Given the description of an element on the screen output the (x, y) to click on. 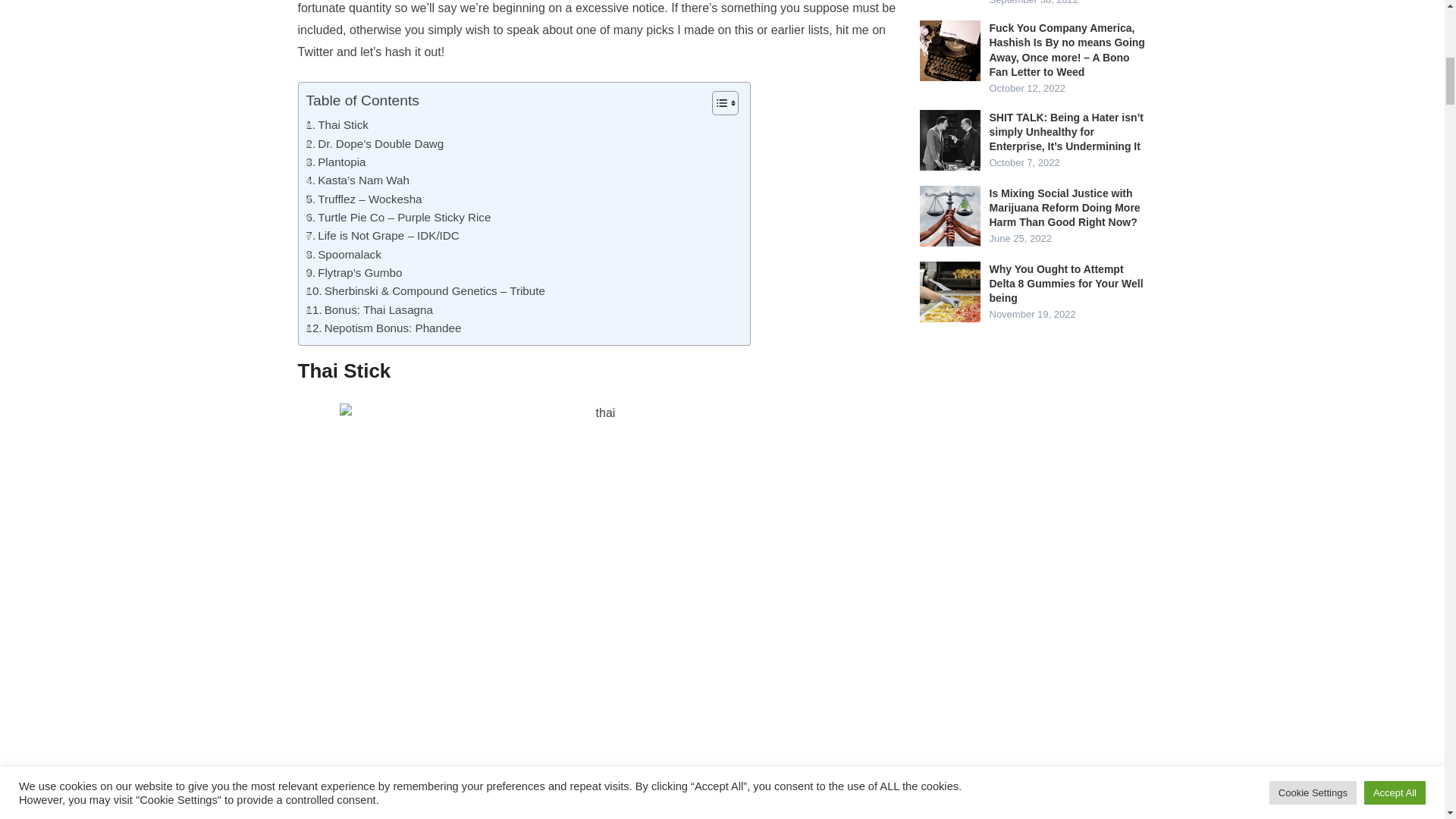
Spoomalack (343, 254)
Bonus: Thai Lasagna (368, 310)
Plantopia (335, 162)
Spoomalack (343, 254)
Thai Stick (336, 125)
Nepotism Bonus: Phandee (383, 328)
Thai Stick (336, 125)
Nepotism Bonus: Phandee (383, 328)
Plantopia (335, 162)
Bonus: Thai Lasagna (368, 310)
